Given the description of an element on the screen output the (x, y) to click on. 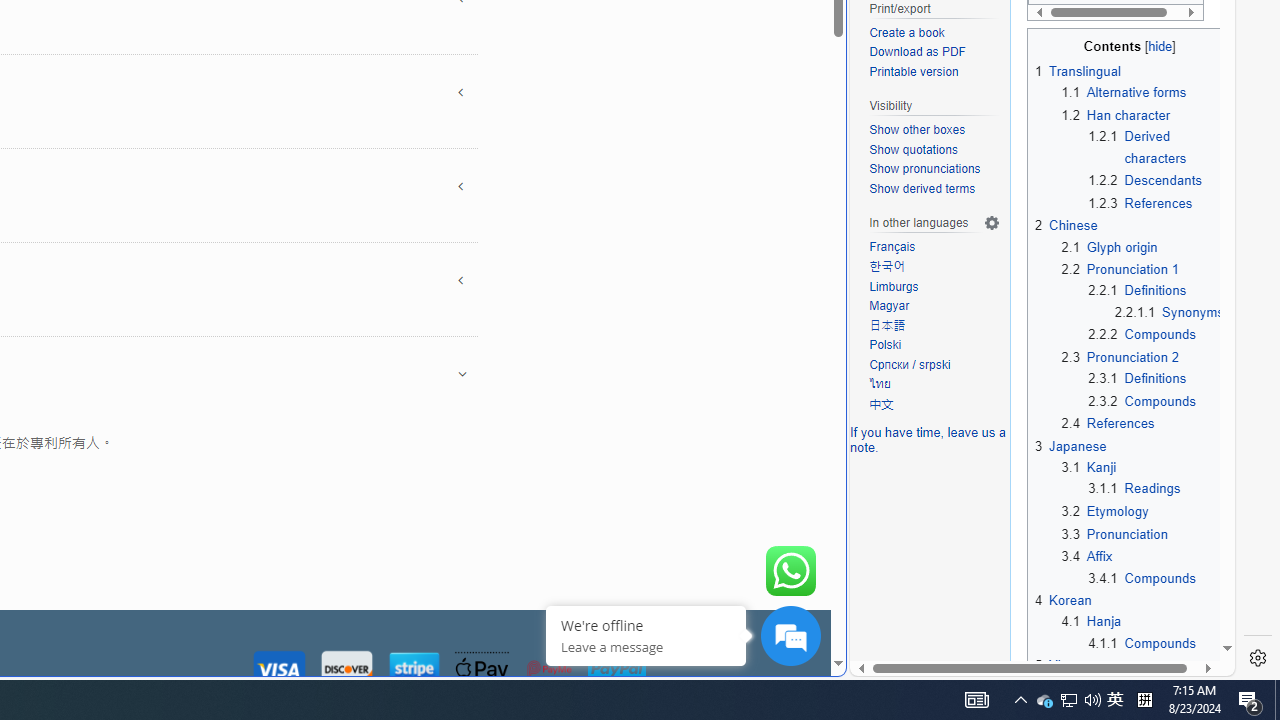
1.2.1 Derived characters (1156, 147)
3 Japanese (1071, 445)
3.2Etymology (1142, 511)
3.4.1 Compounds (1142, 577)
4 Korean (1063, 600)
Magyar (889, 305)
2.3.2Compounds (1156, 400)
Show other boxes (917, 130)
4.1 Hanja (1091, 621)
Limburgs (894, 286)
